Given the description of an element on the screen output the (x, y) to click on. 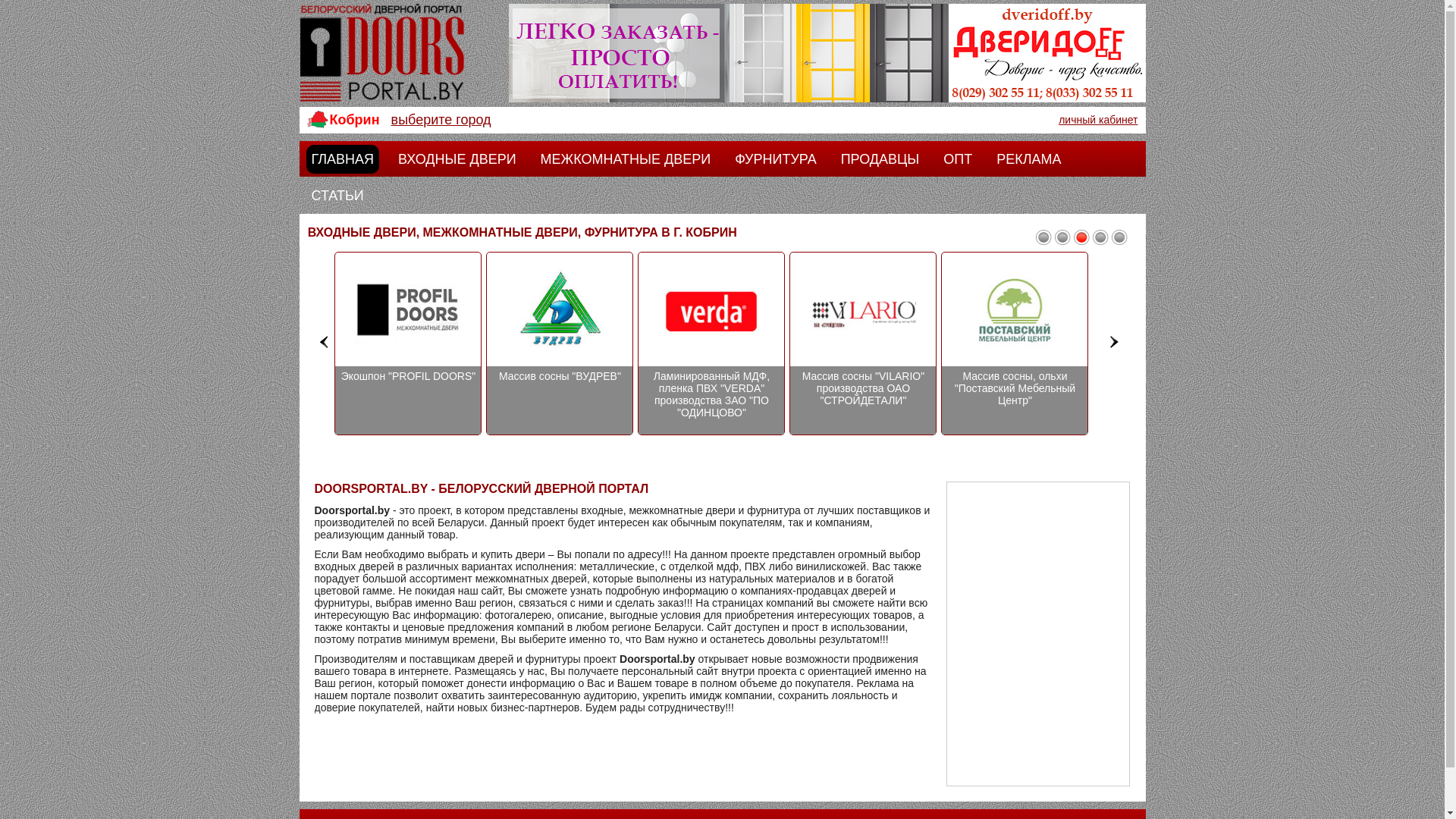
> Element type: text (1114, 341)
< Element type: text (324, 341)
Advertisement Element type: hover (1038, 633)
